Given the description of an element on the screen output the (x, y) to click on. 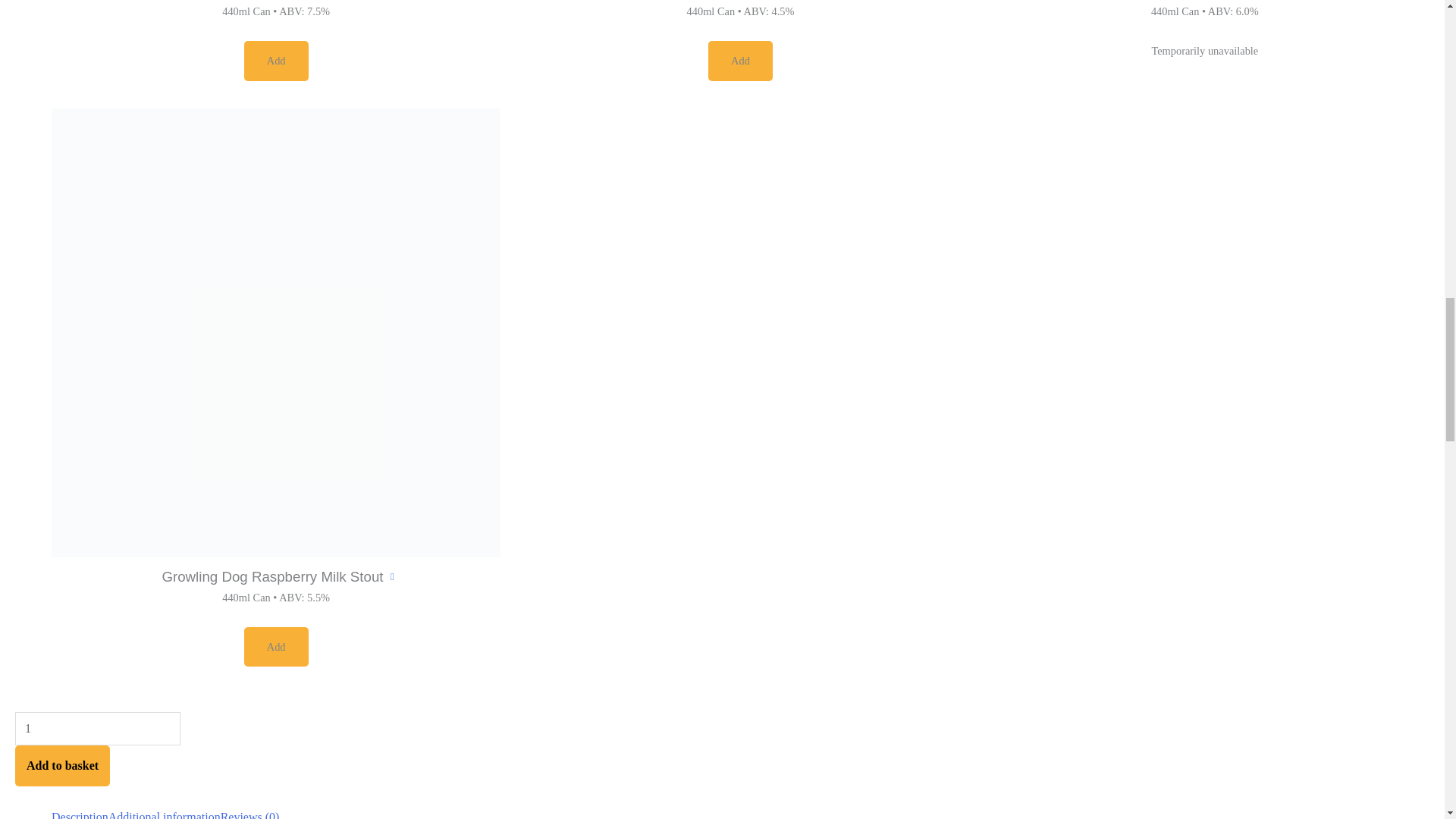
1 (97, 728)
